Given the description of an element on the screen output the (x, y) to click on. 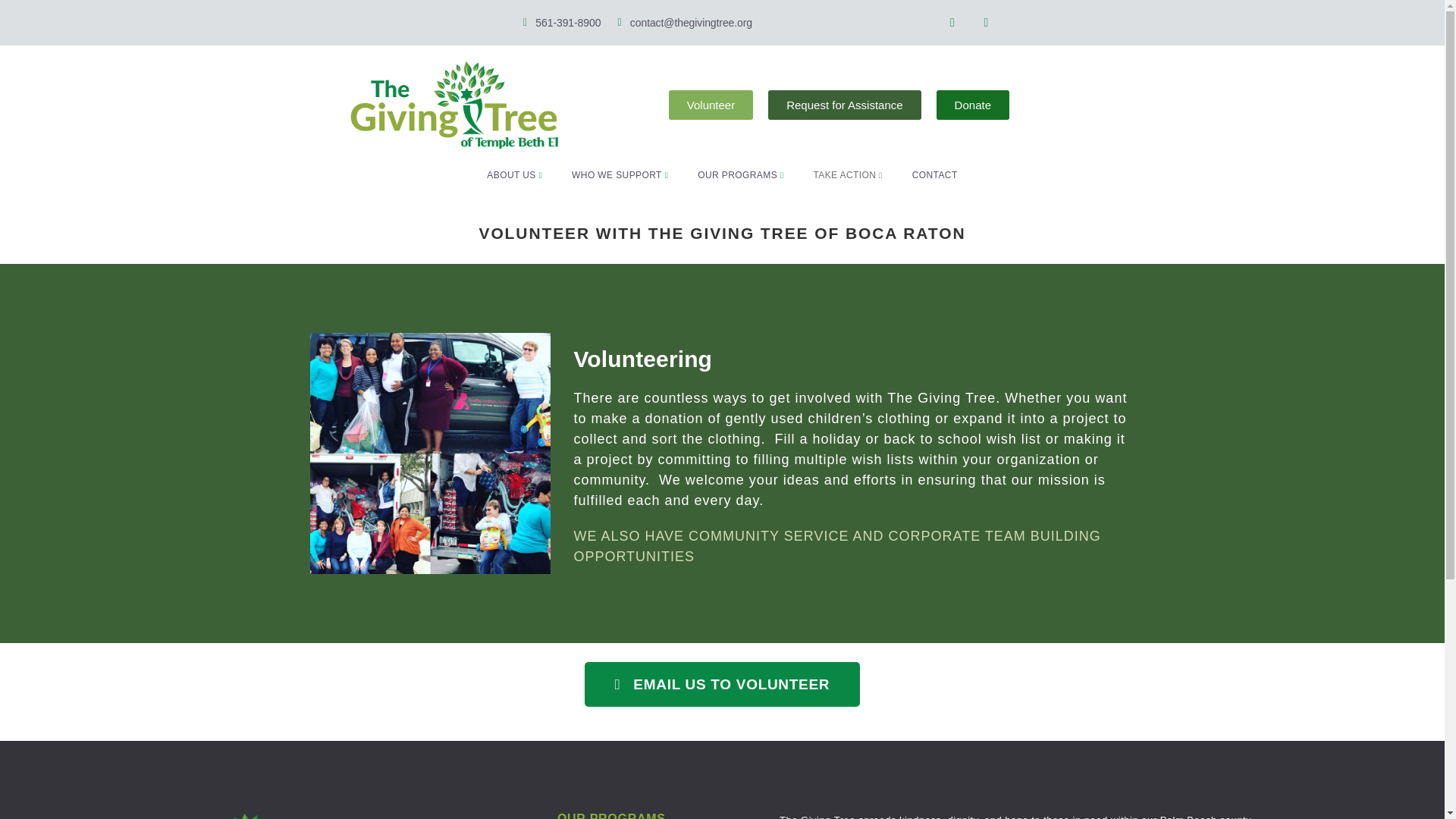
EMAIL US TO VOLUNTEER (722, 683)
WHO WE SUPPORT (622, 174)
ABOUT US (518, 174)
TAKE ACTION (850, 174)
CONTACT (935, 174)
Donate (972, 104)
Request for Assistance (844, 104)
Volunteer (710, 104)
OUR PROGRAMS (743, 174)
